Given the description of an element on the screen output the (x, y) to click on. 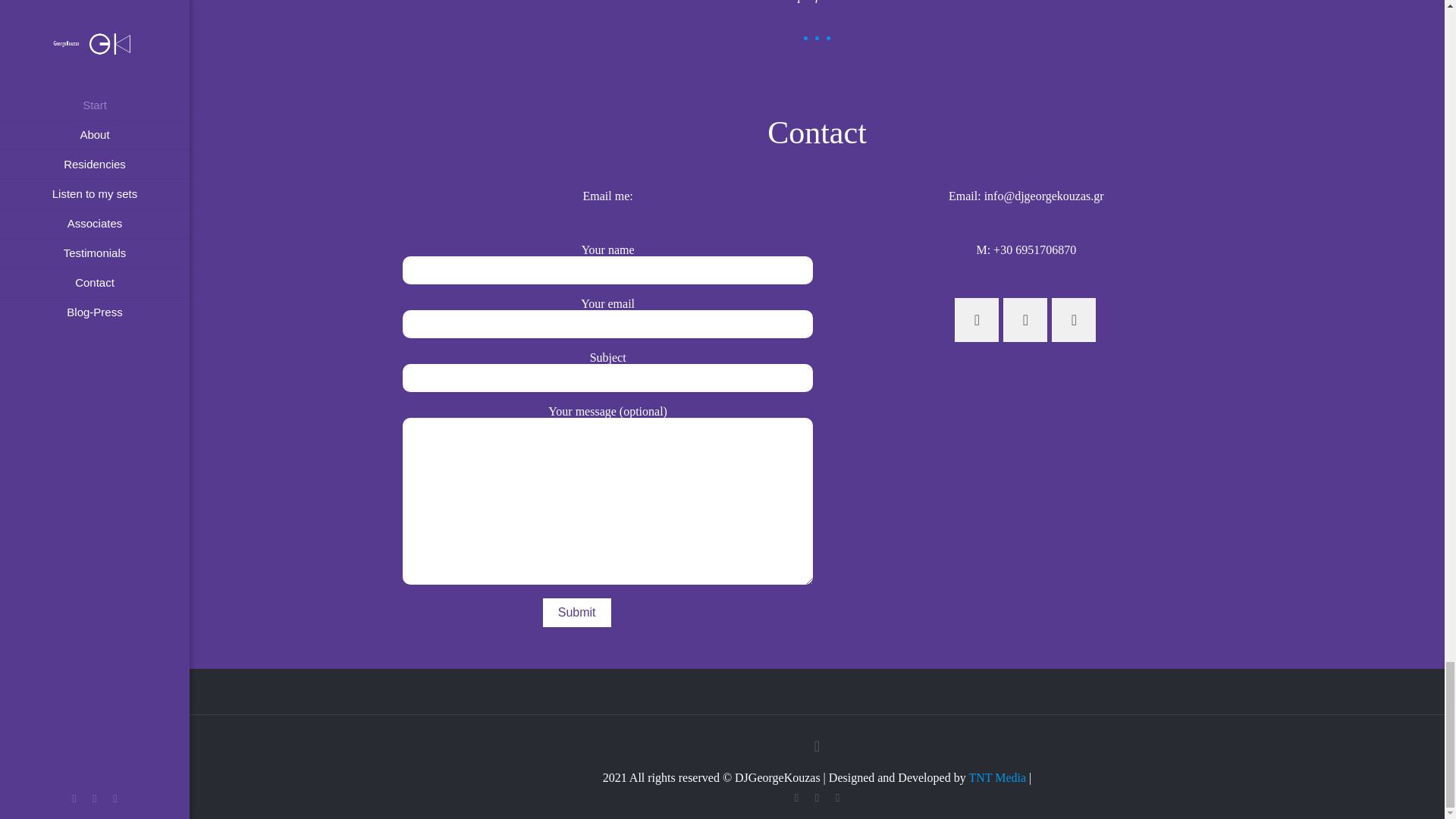
Submit (577, 612)
Instagram (817, 797)
Facebook (797, 797)
Mixcloud (837, 797)
Submit (577, 612)
